Given the description of an element on the screen output the (x, y) to click on. 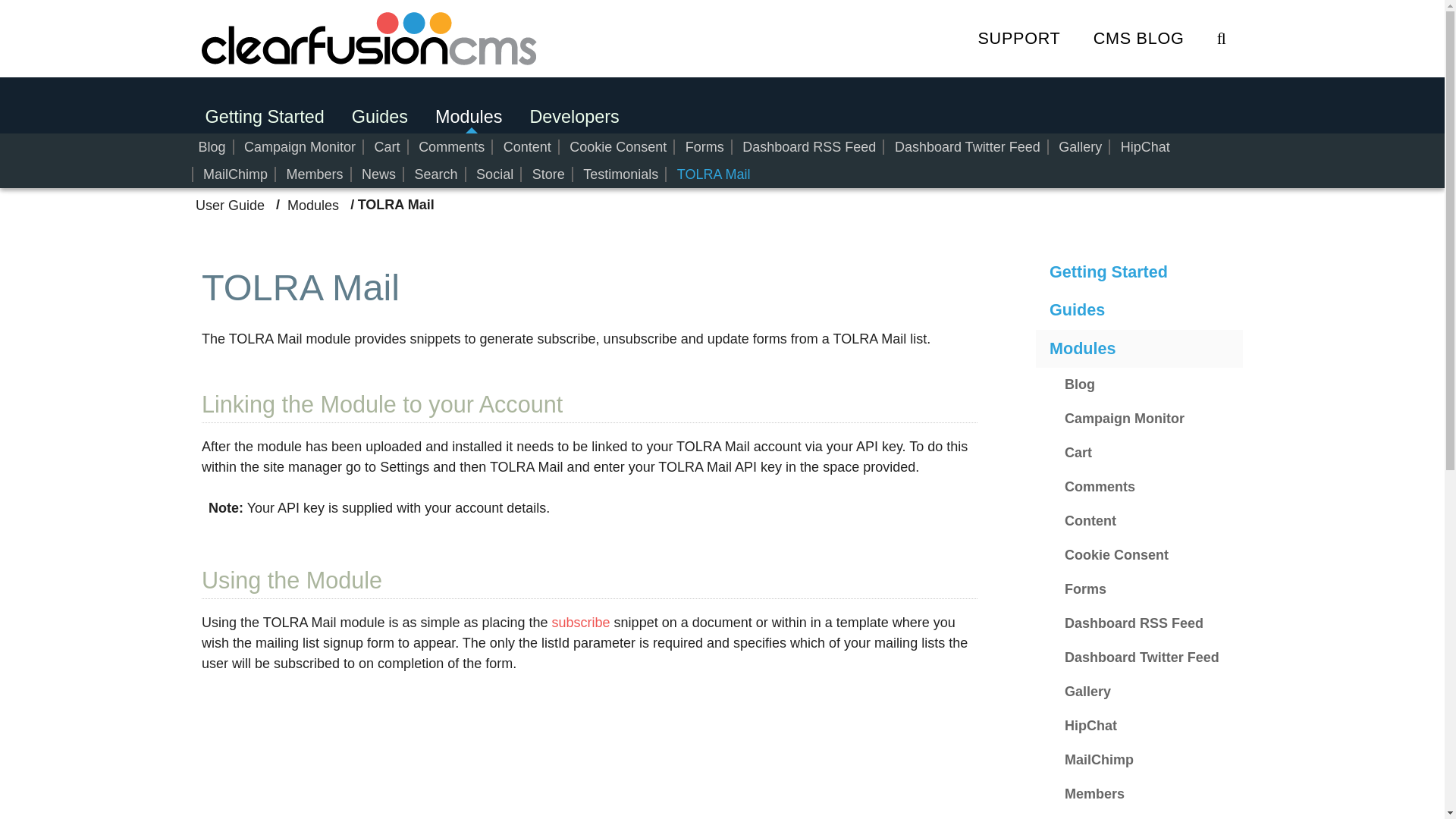
Modules (468, 116)
Comments (1147, 487)
Modules (313, 204)
Cookie Consent (617, 146)
Getting Started (263, 116)
Forms (704, 146)
Guides (379, 116)
Blog (210, 146)
Getting Started (1139, 272)
SUPPORT (1018, 38)
